Given the description of an element on the screen output the (x, y) to click on. 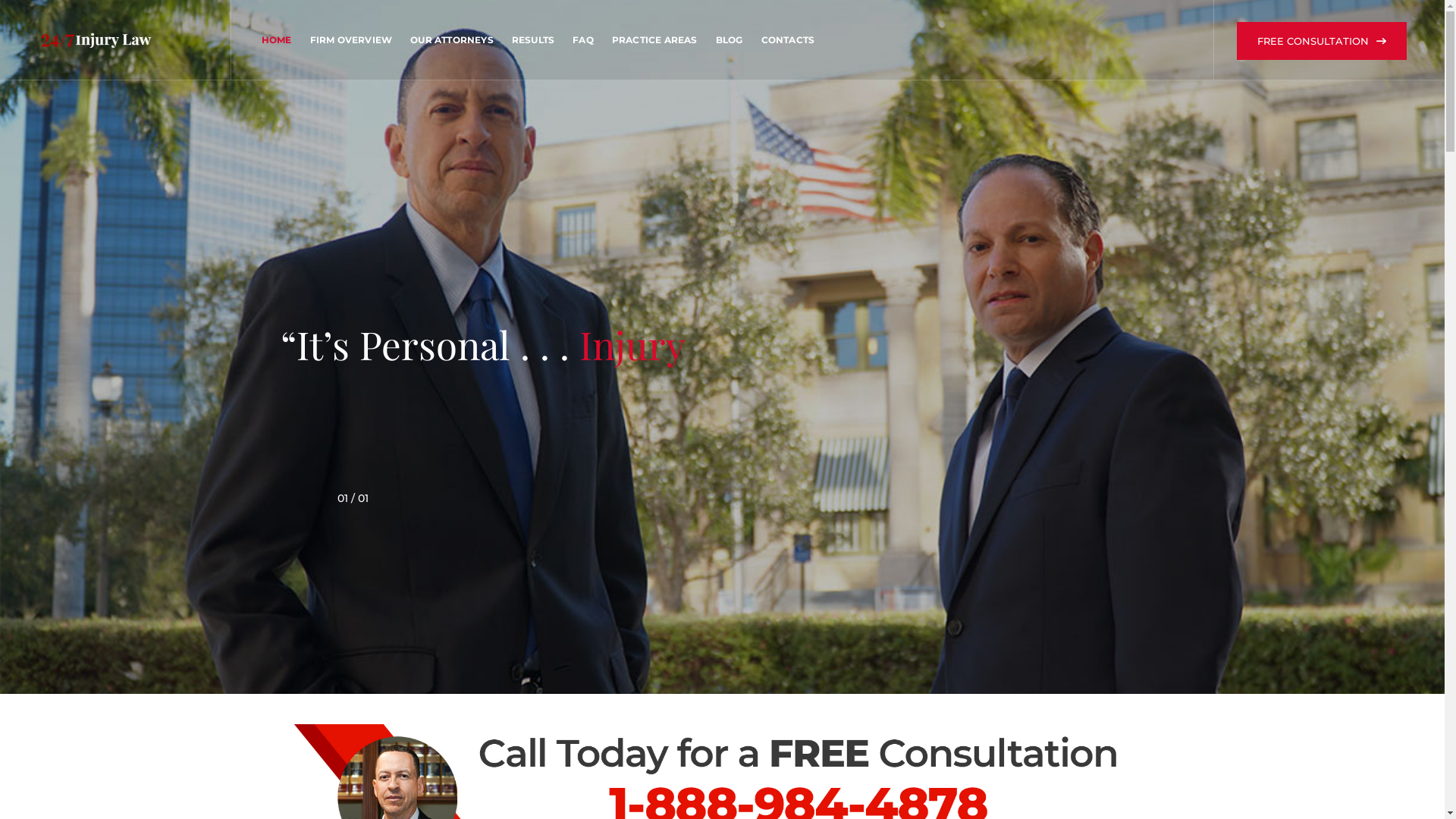
FREE CONSULTATION Element type: text (1321, 40)
RESULTS Element type: text (532, 39)
BLOG Element type: text (729, 39)
247injurylaw Element type: hover (95, 39)
CONTACTS Element type: text (788, 39)
FIRM OVERVIEW Element type: text (351, 39)
OUR ATTORNEYS Element type: text (451, 39)
FAQ Element type: text (582, 39)
HOME Element type: text (276, 39)
PRACTICE AREAS Element type: text (654, 39)
